Given the description of an element on the screen output the (x, y) to click on. 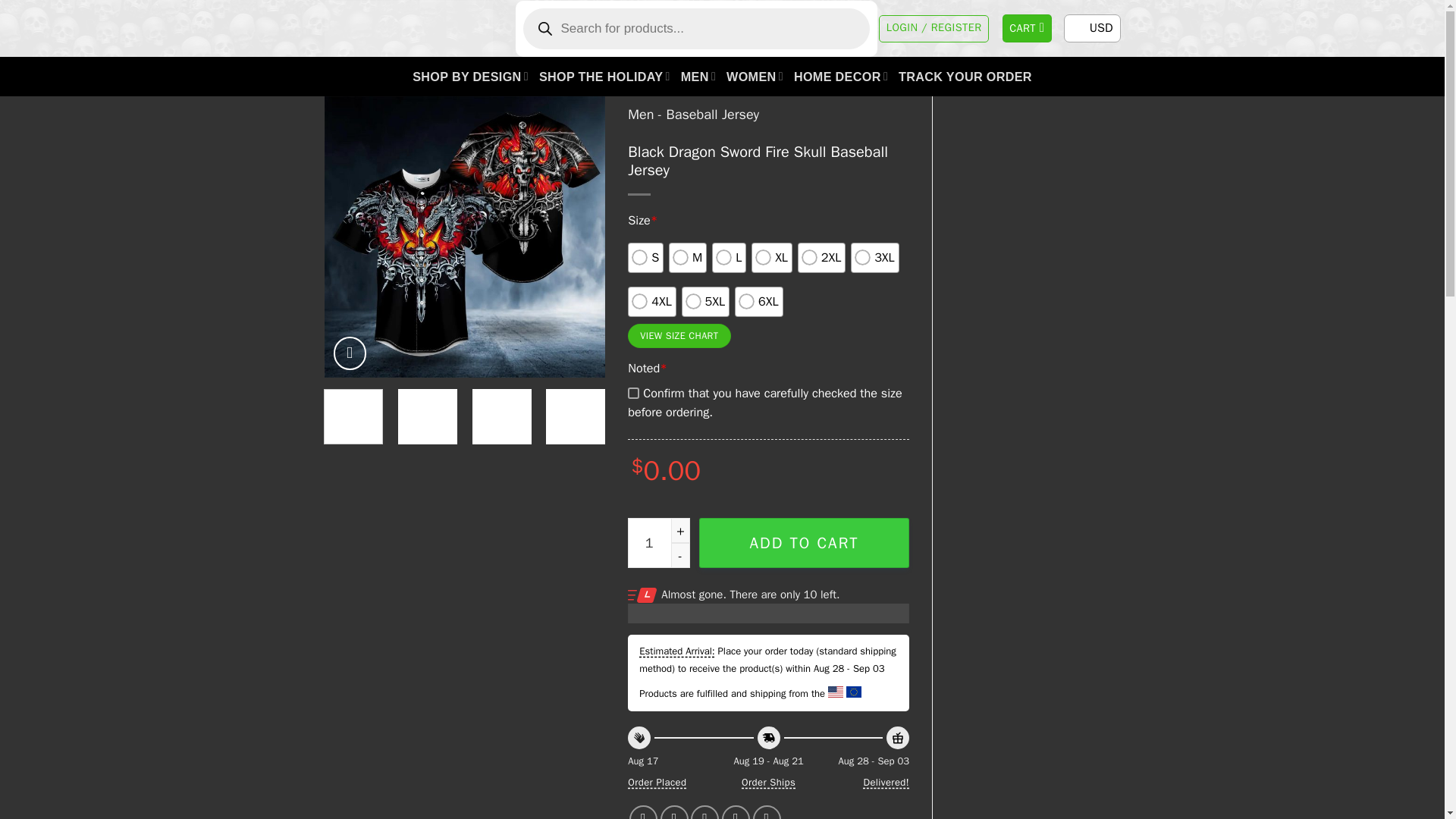
CART (1027, 28)
Black Dragon Sword Fire Skull Baseball Jersey (464, 236)
SHOP THE HOLIDAY (603, 76)
HOME DECOR (840, 76)
Black Dragon Sword Fire Skull Baseball Jersey (745, 236)
3XL (874, 257)
Zoom (349, 353)
M (687, 257)
SHOP BY DESIGN (470, 76)
Black Dragon Sword Fire Skull Baseball Jersey (1026, 236)
